Given the description of an element on the screen output the (x, y) to click on. 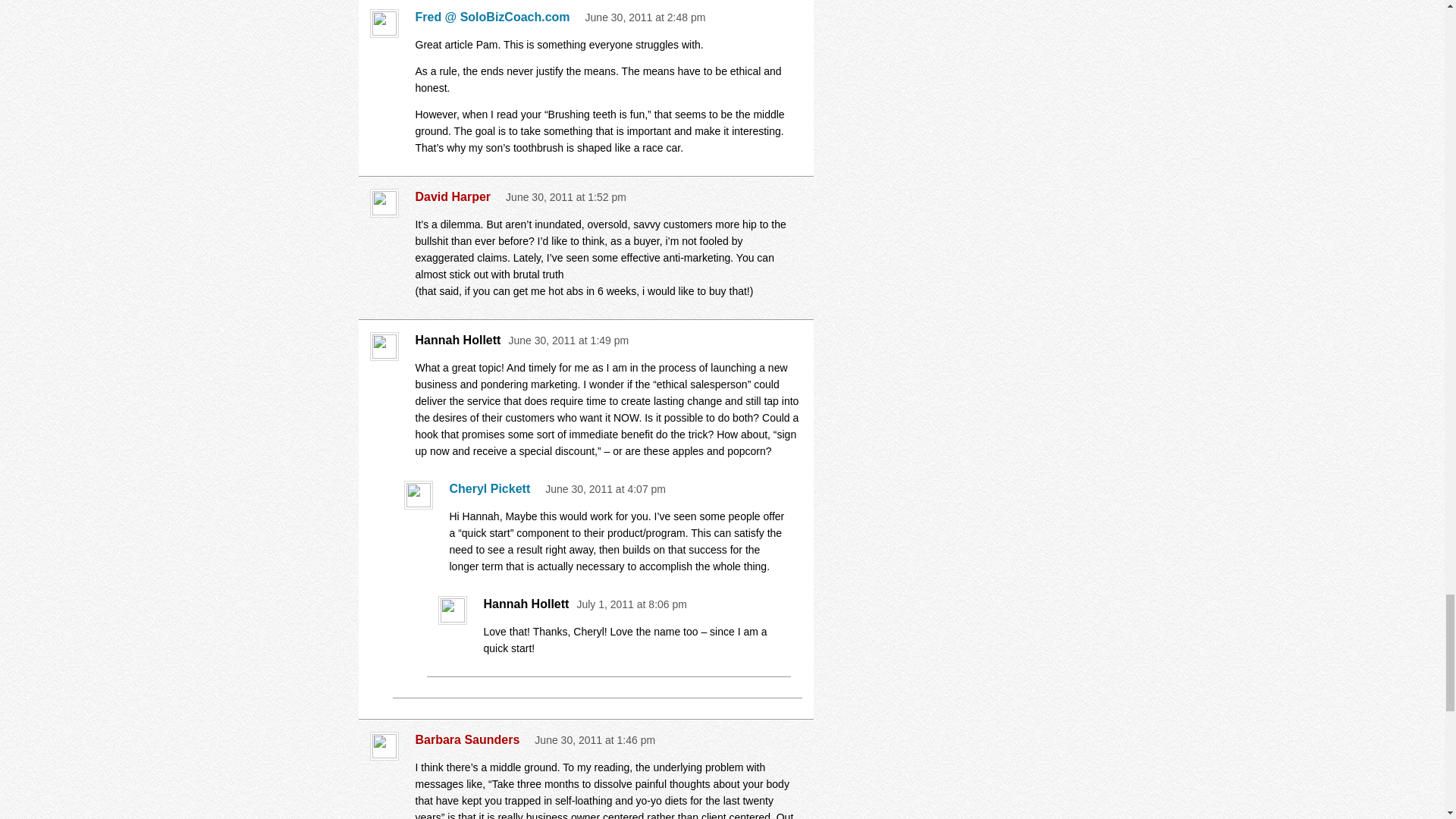
June 30, 2011 at 2:48 pm (645, 17)
David Harper (456, 197)
